Given the description of an element on the screen output the (x, y) to click on. 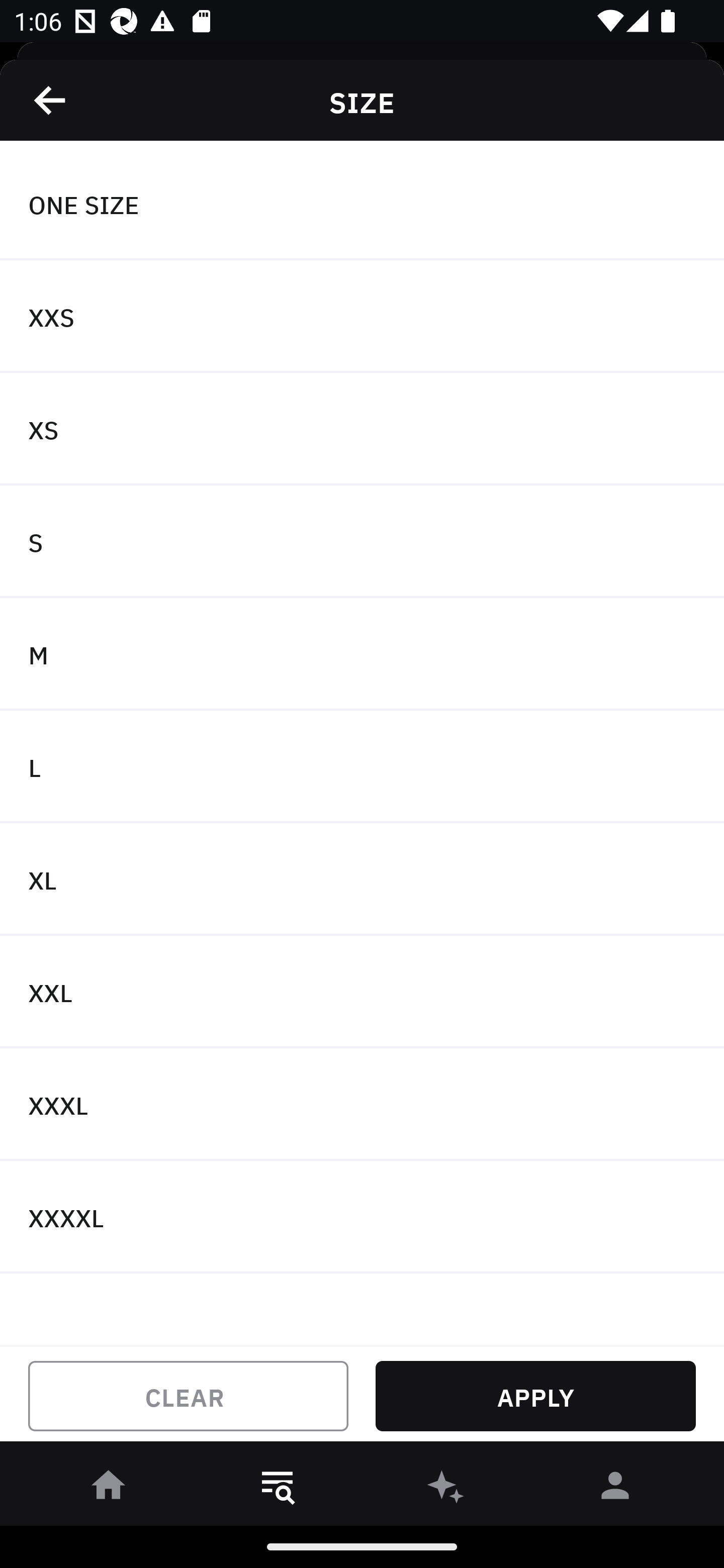
 (50, 100)
ONE SIZE (362, 203)
XXS (362, 316)
XS (362, 429)
S (362, 541)
M (362, 653)
L (362, 766)
XL (362, 879)
XXL (362, 992)
XXXL (362, 1104)
XXXXL (362, 1216)
CLEAR  (188, 1396)
APPLY (535, 1396)
󰋜 (108, 1488)
󱎸 (277, 1488)
󰫢 (446, 1488)
󰀄 (615, 1488)
